Given the description of an element on the screen output the (x, y) to click on. 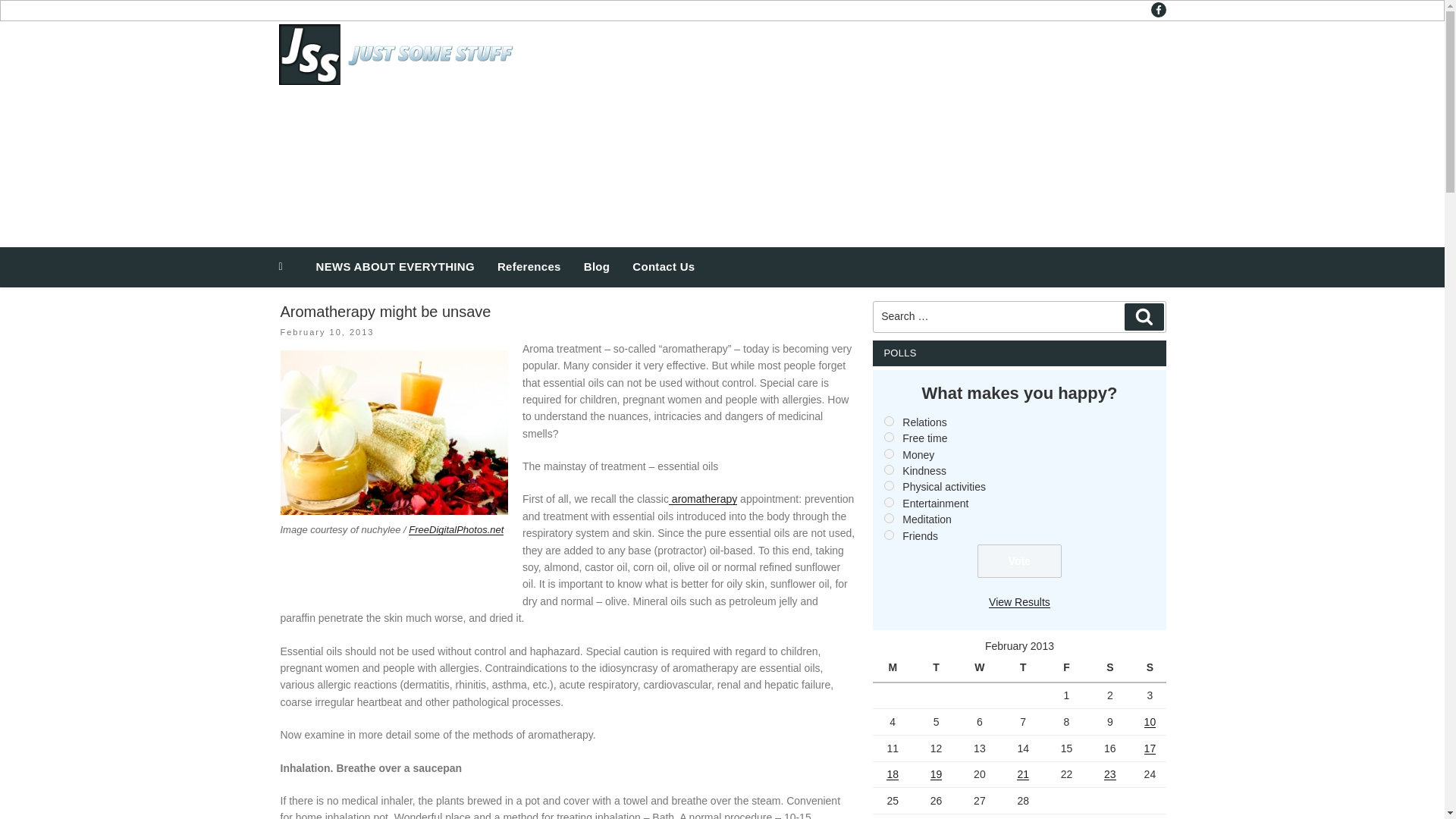
Contact Us (663, 267)
11 (888, 485)
6 (888, 420)
13 (888, 518)
View Results (1018, 602)
Aromatherapy (702, 499)
References (529, 267)
Thursday (1024, 668)
17 (1150, 748)
21 (1022, 774)
23 (1109, 774)
FreeDigitalPhotos.net (456, 529)
   Vote    (1018, 561)
10 (1150, 721)
NEWS ABOUT EVERYTHING (395, 267)
